Given the description of an element on the screen output the (x, y) to click on. 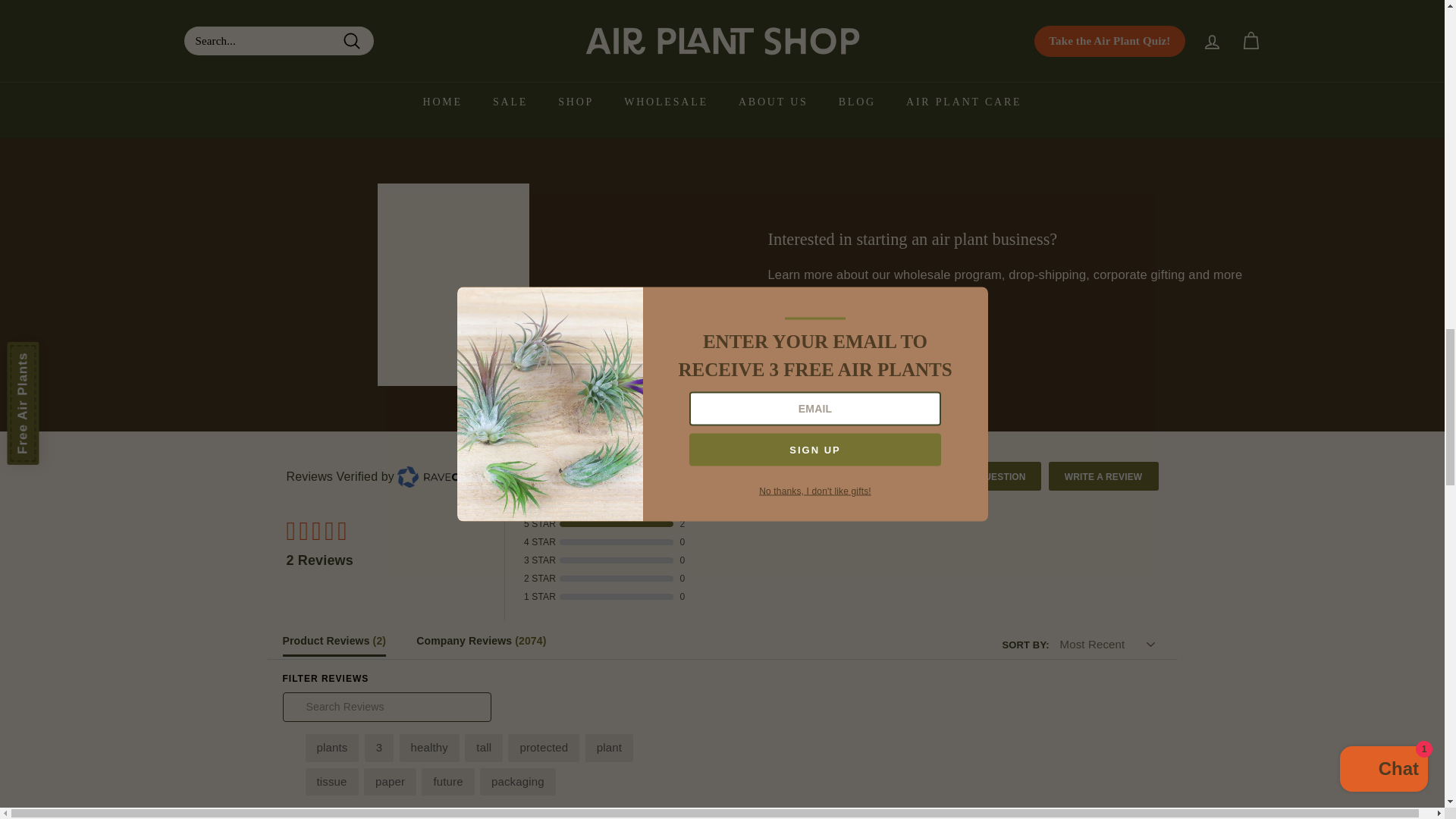
Ask question (986, 475)
RaveCapture Logo (451, 476)
